Given the description of an element on the screen output the (x, y) to click on. 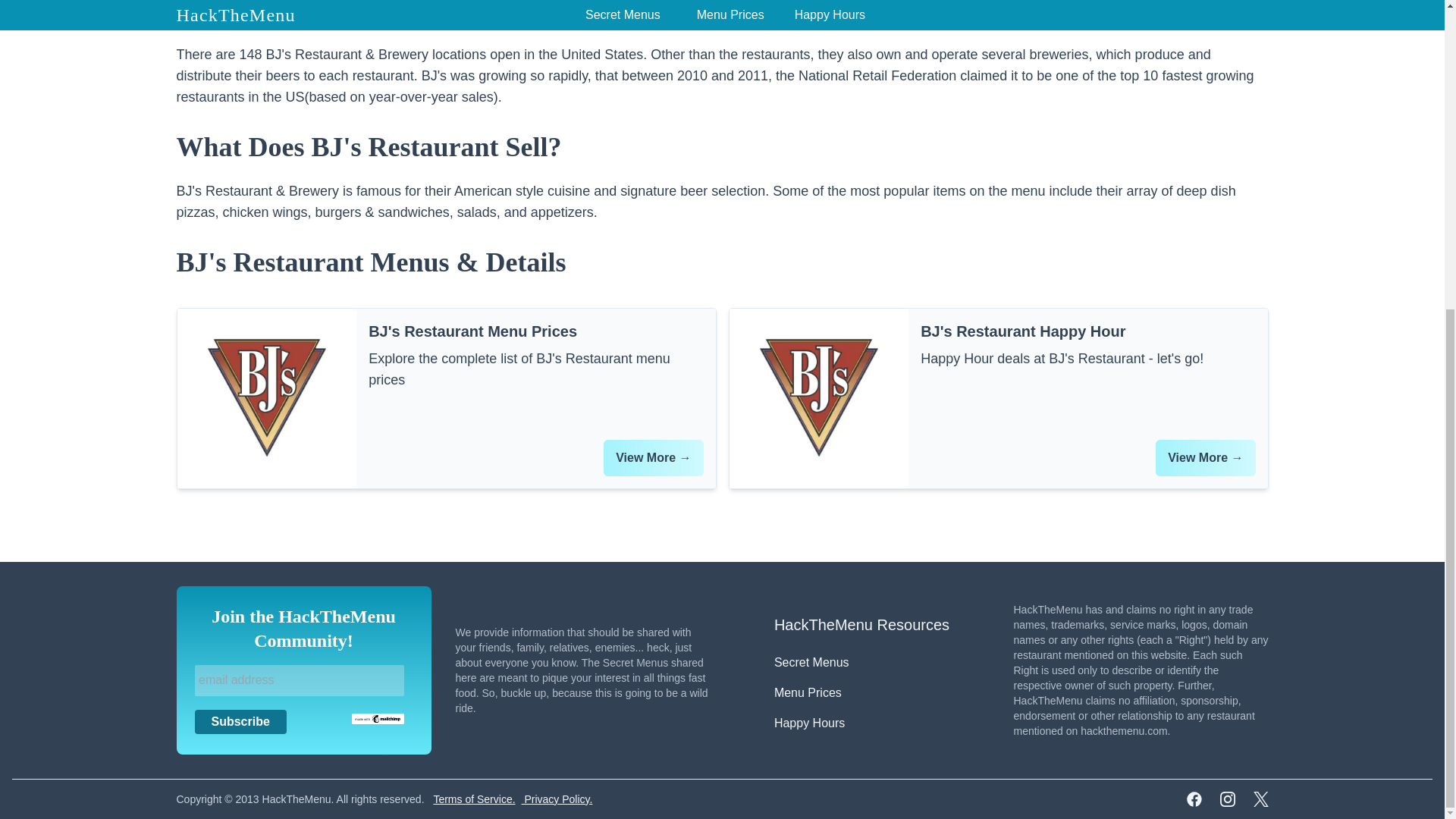
What Does BJ's Restaurant Sell? (722, 146)
Where Can I Find BJ's Restaurant Locations? (722, 12)
Subscribe (239, 721)
Mailchimp - email marketing made easy and fun (378, 718)
